Given the description of an element on the screen output the (x, y) to click on. 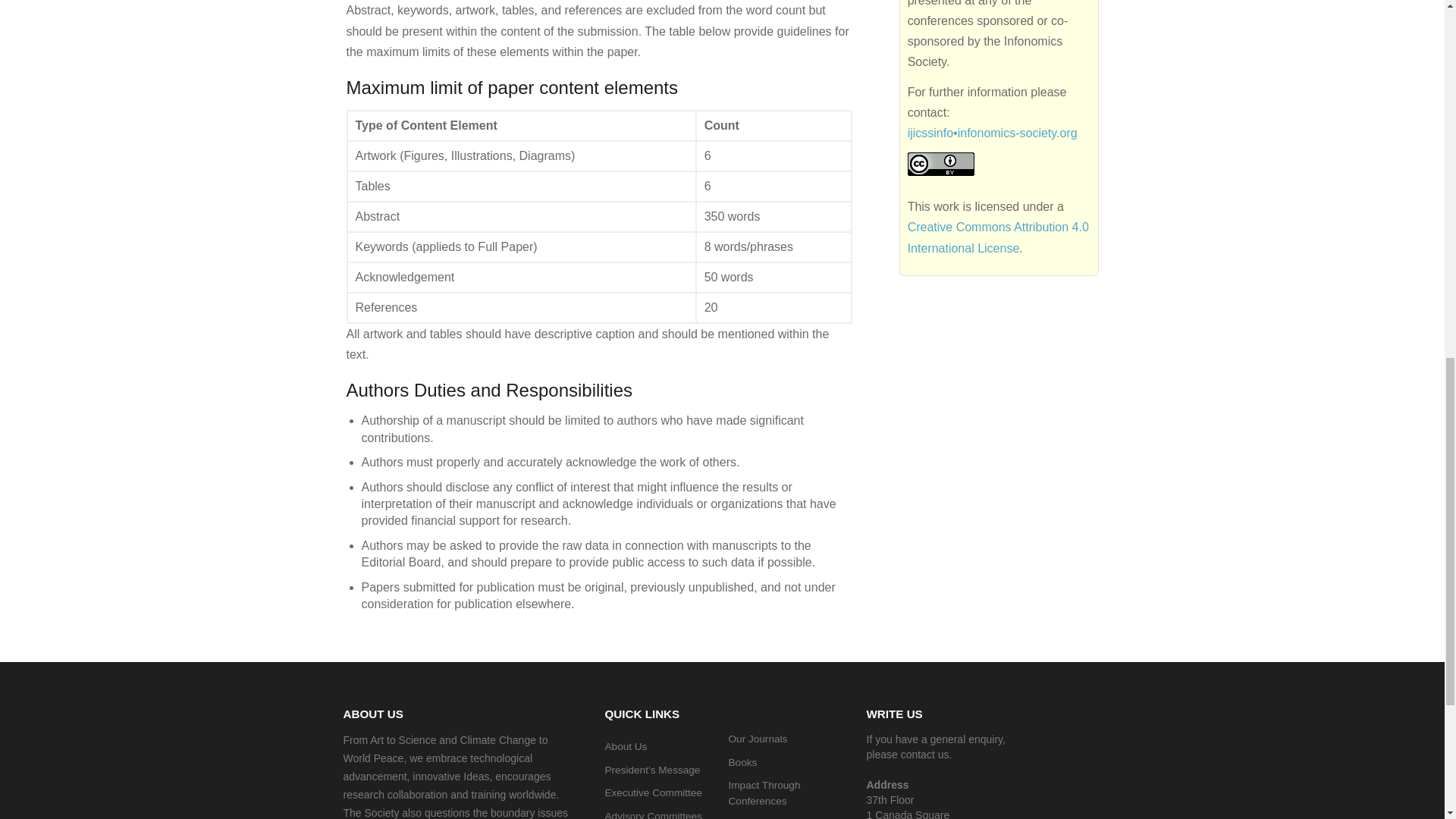
Submit a paper or copyright form via e-mail (992, 132)
